Given the description of an element on the screen output the (x, y) to click on. 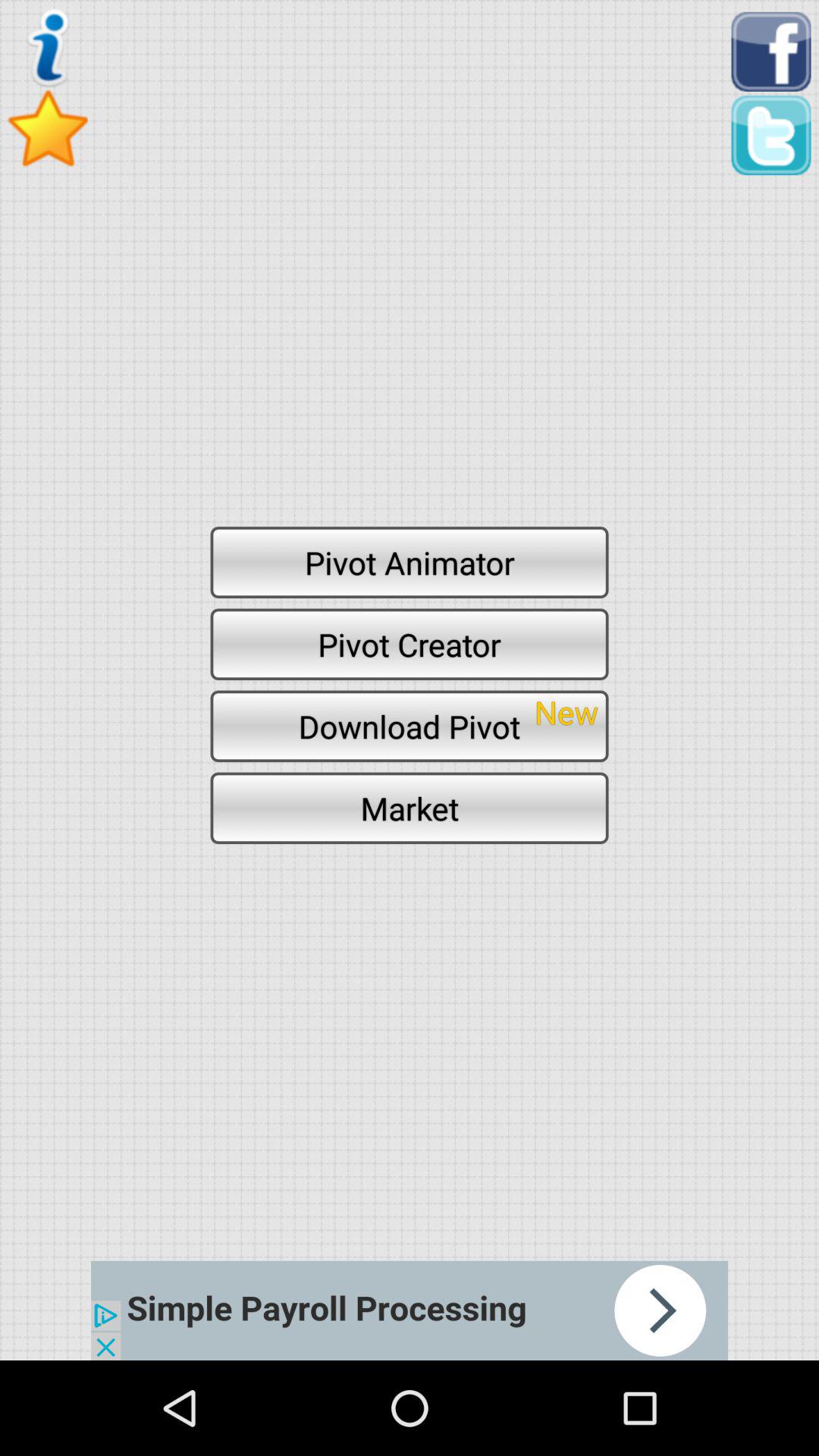
open icon above market icon (409, 726)
